Given the description of an element on the screen output the (x, y) to click on. 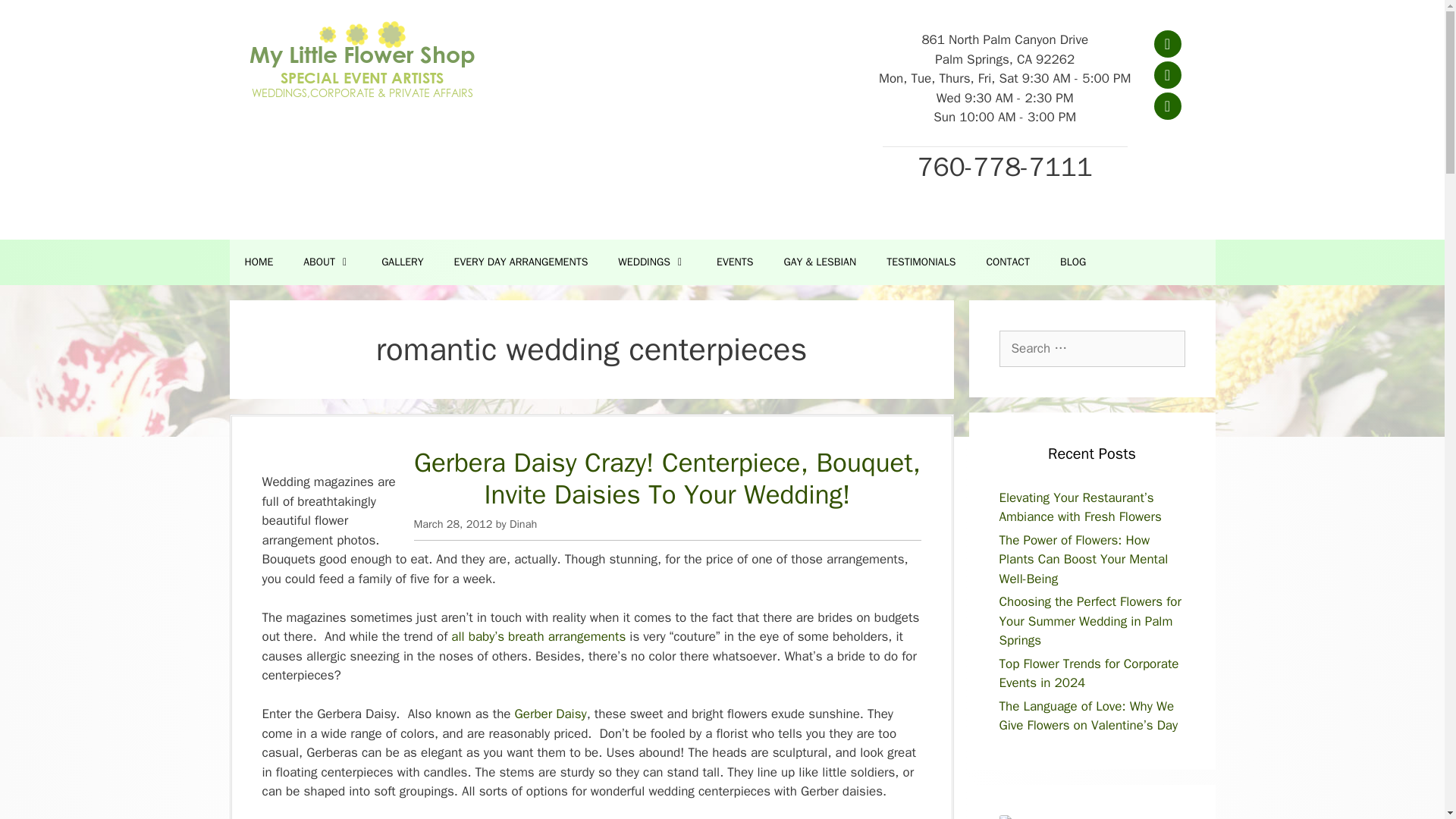
BLOG (1072, 262)
WEDDINGS (651, 262)
HOME (258, 262)
EVERY DAY ARRANGEMENTS (521, 262)
View all posts by Dinah (523, 523)
ABOUT (327, 262)
Gerber Daisy (550, 713)
Dinah (523, 523)
CONTACT (1008, 262)
TESTIMONIALS (920, 262)
WeddingWire (1041, 817)
A nice baby's breath set up (538, 636)
Gerbera (550, 713)
GALLERY (402, 262)
